Given the description of an element on the screen output the (x, y) to click on. 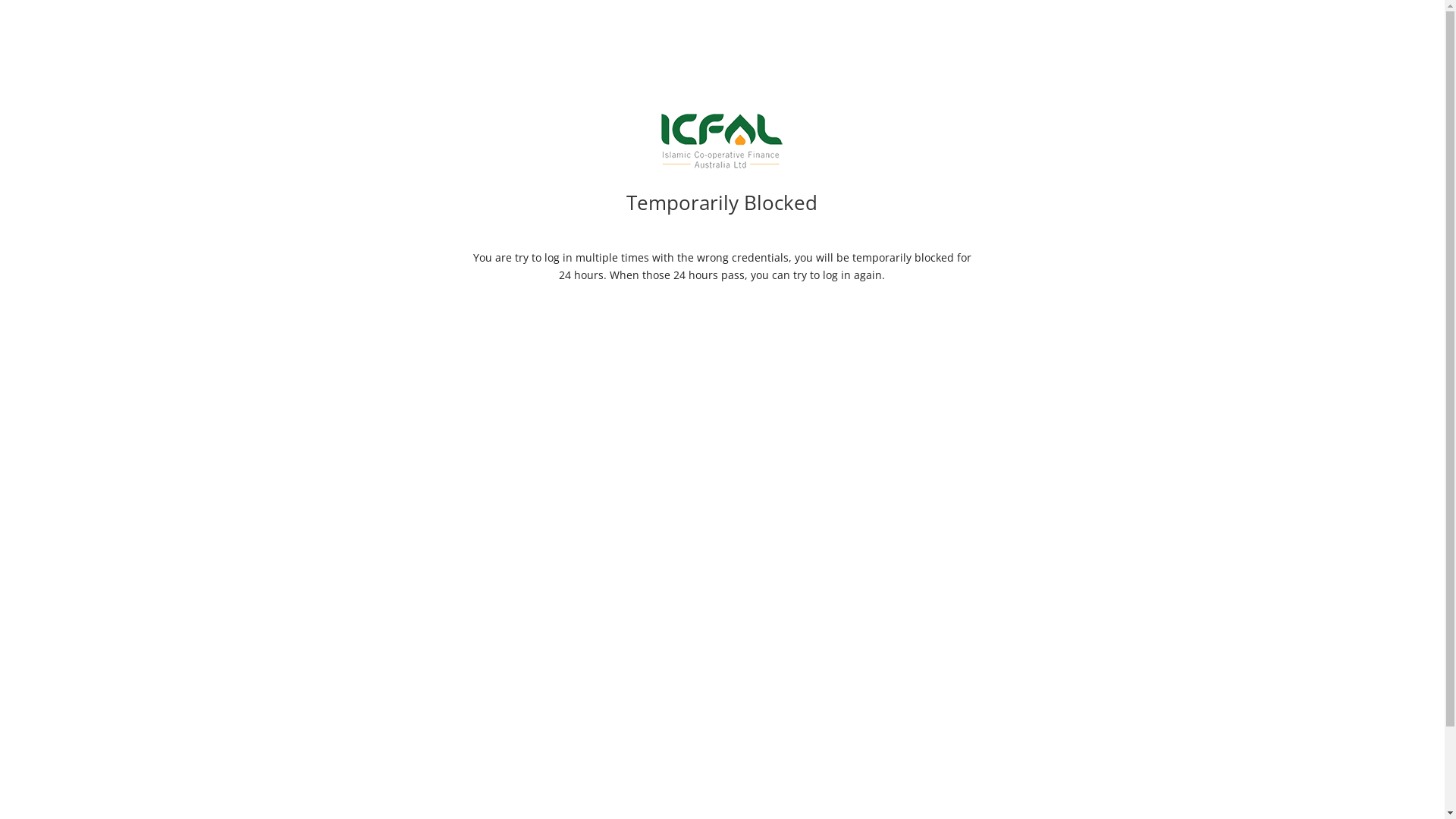
icfal-logo Element type: hover (721, 140)
